Given the description of an element on the screen output the (x, y) to click on. 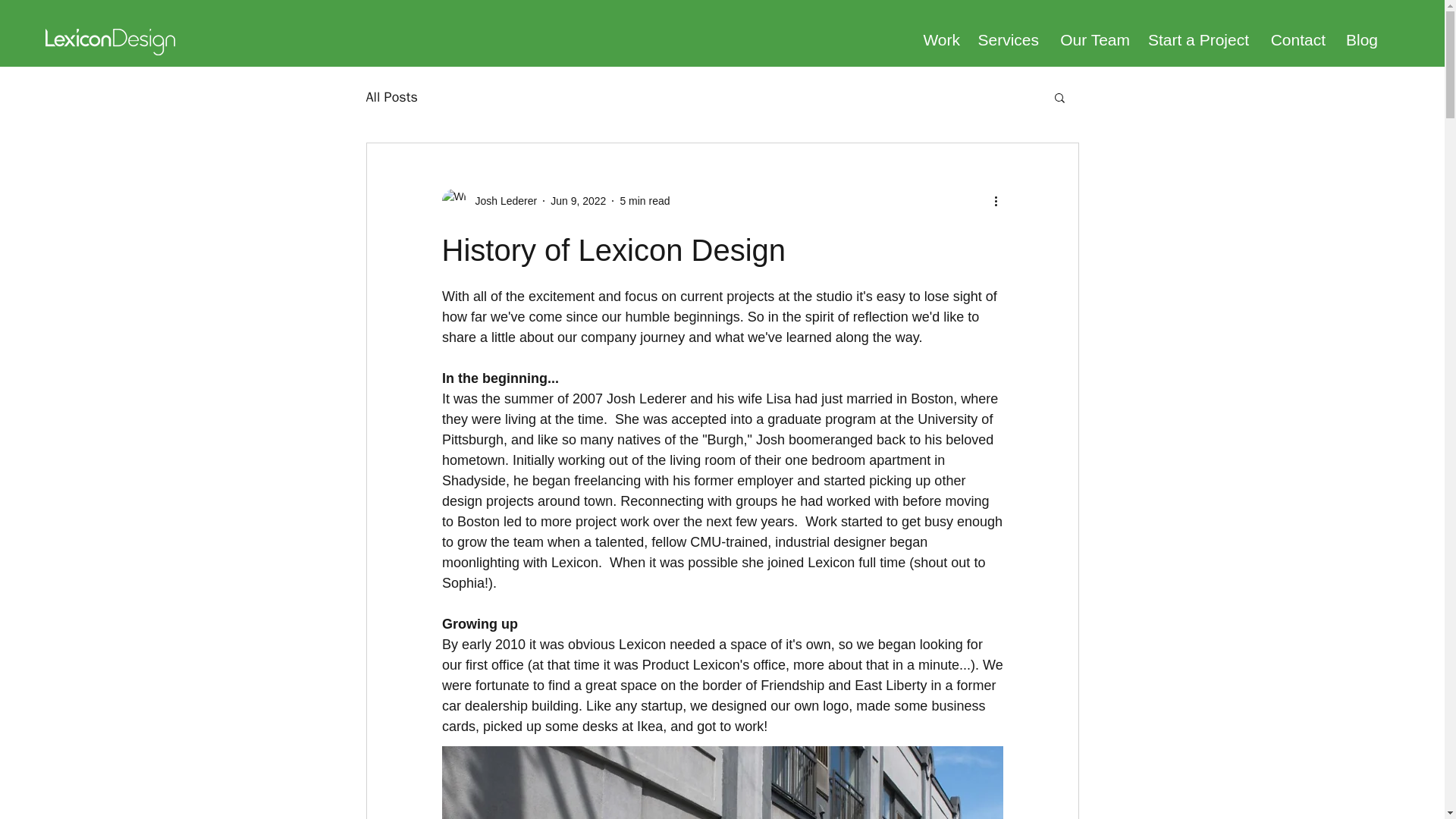
Work (939, 39)
Contact (1294, 39)
Blog (1359, 39)
5 min read (644, 200)
Start a Project (1196, 39)
Services (1007, 39)
Our Team (1091, 39)
Jun 9, 2022 (577, 200)
Josh Lederer (501, 200)
All Posts (390, 96)
